Given the description of an element on the screen output the (x, y) to click on. 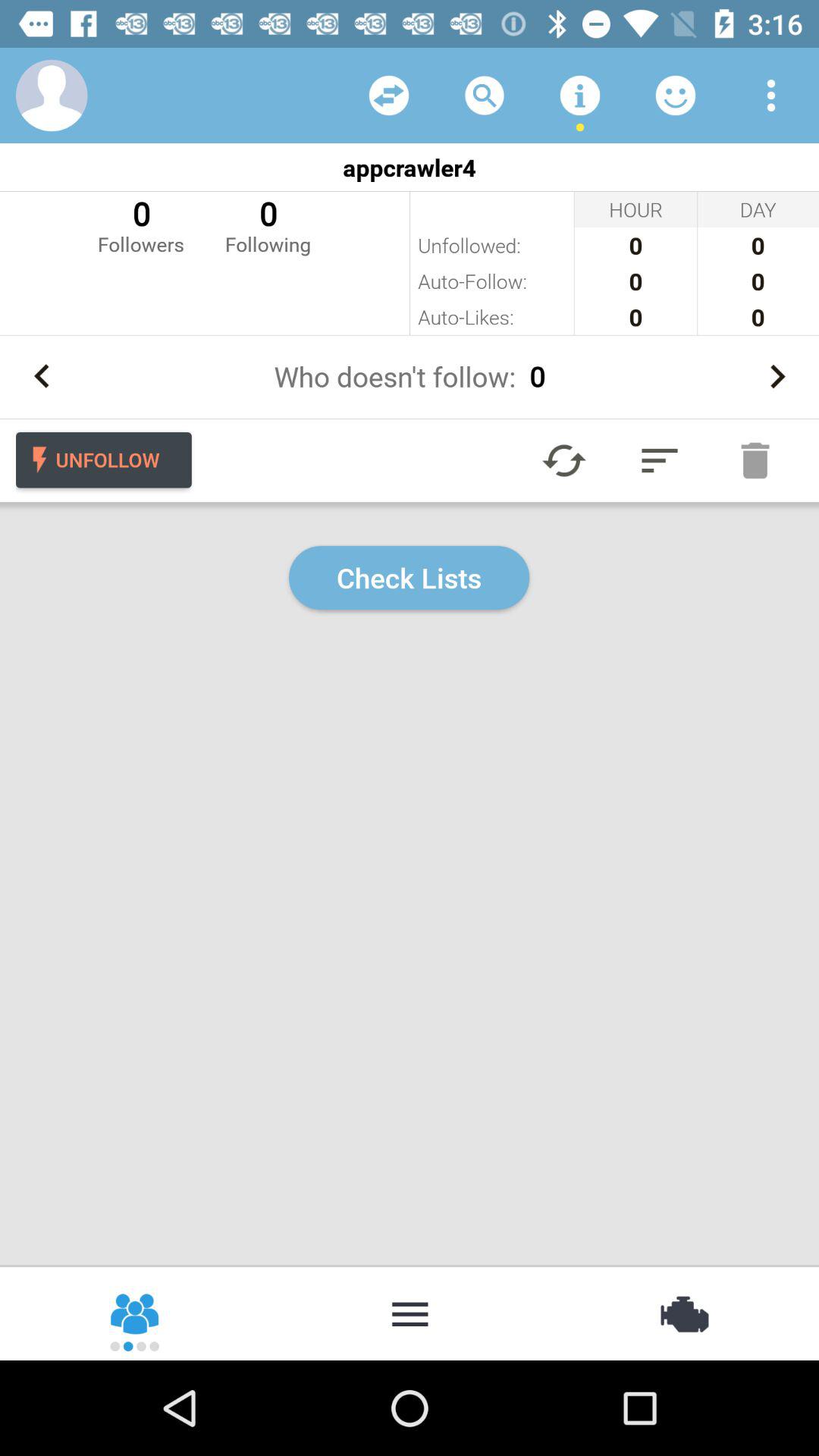
profile (51, 95)
